Given the description of an element on the screen output the (x, y) to click on. 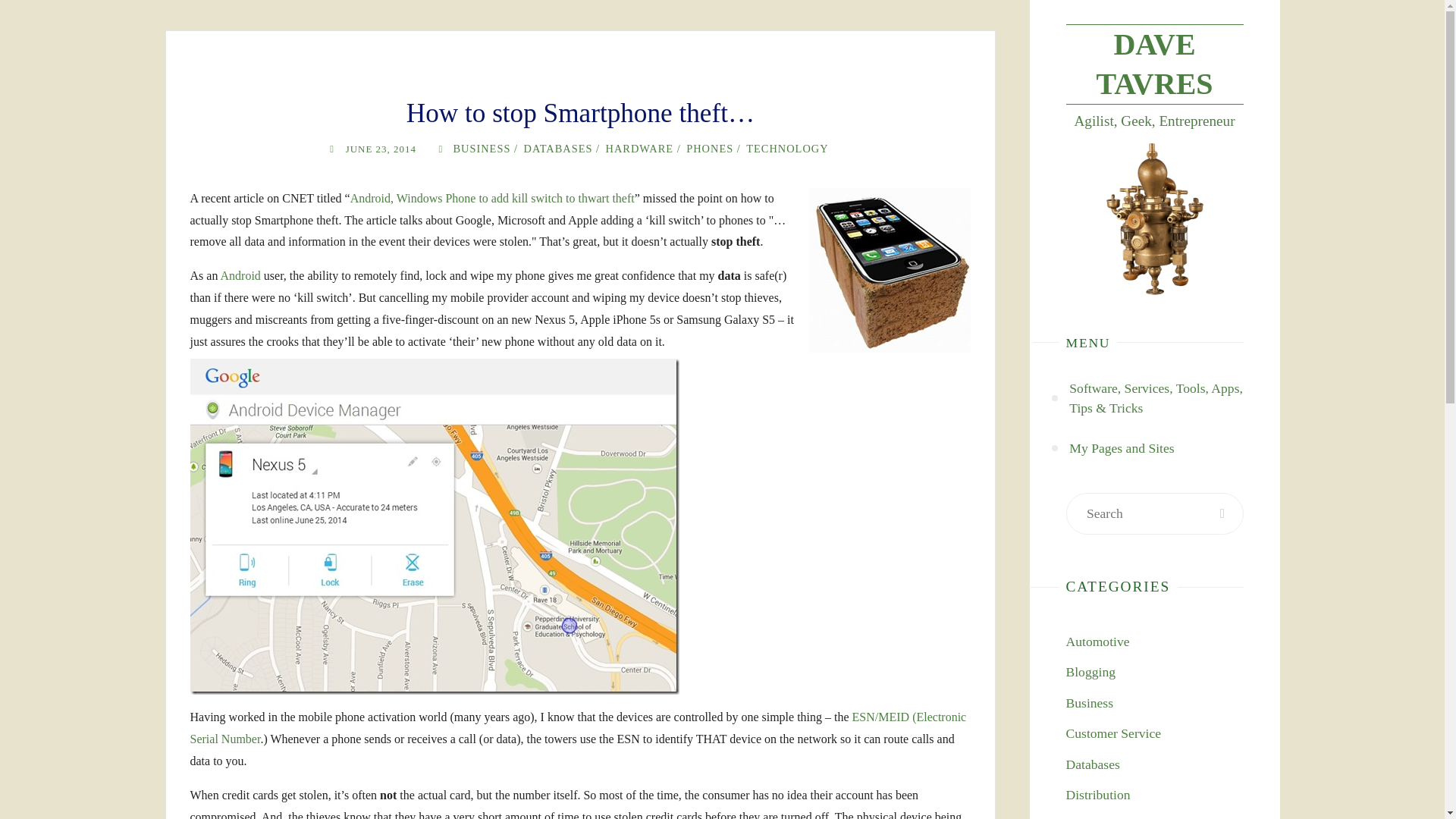
Search (1222, 513)
Customer Service (1113, 733)
Business (1089, 702)
Blogging (1090, 671)
Automotive (1097, 641)
Categories (439, 148)
My Pages and Sites (1120, 448)
DAVE TAVRES (1154, 64)
Distribution (1098, 794)
Agilist, Geek, Entrepreneur (1154, 64)
Date (331, 148)
Databases (1092, 764)
